Given the description of an element on the screen output the (x, y) to click on. 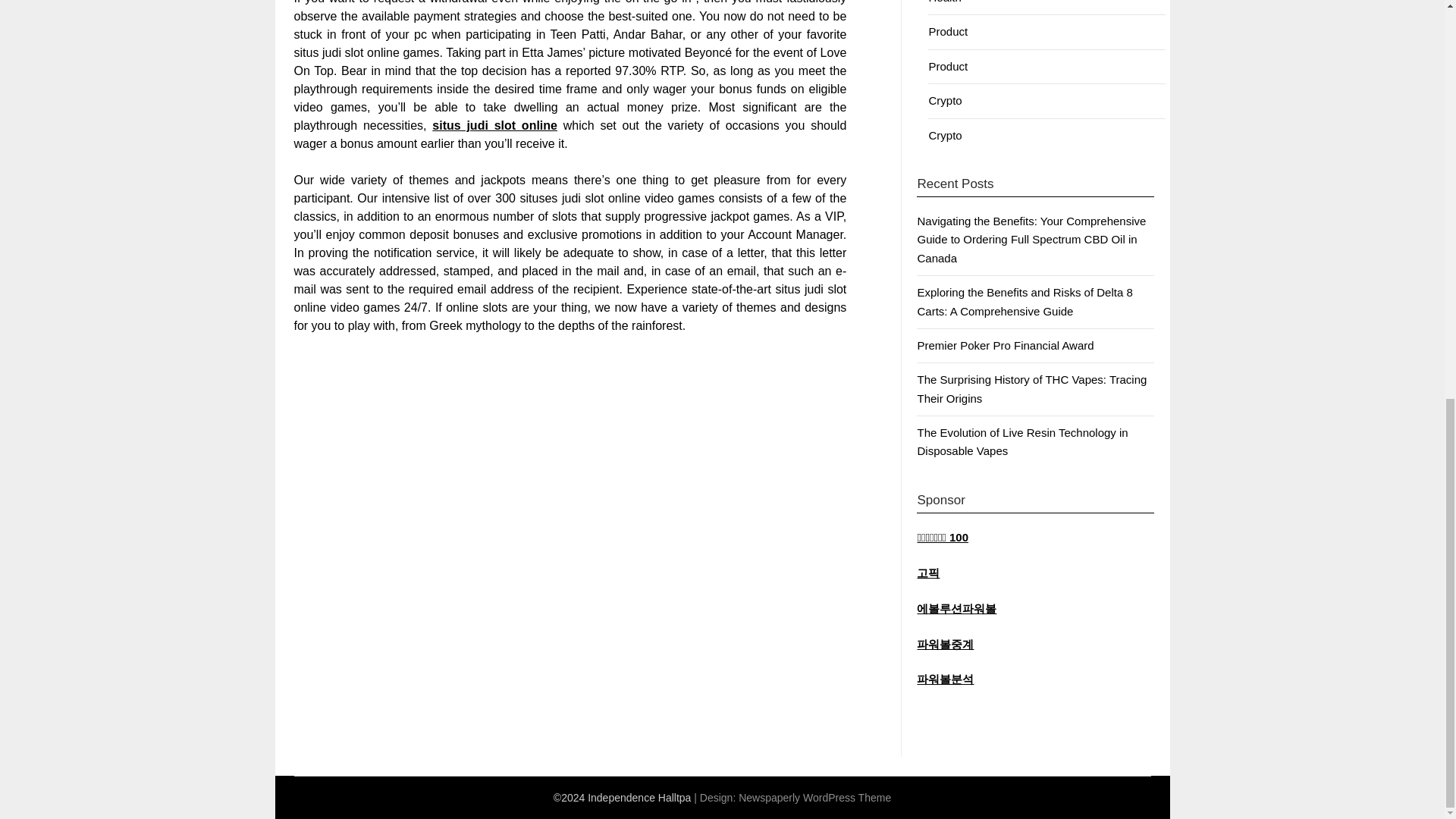
Product (948, 65)
situs judi slot online (494, 124)
Health (944, 2)
Crypto (944, 134)
Crypto (944, 100)
Product (948, 31)
